Given the description of an element on the screen output the (x, y) to click on. 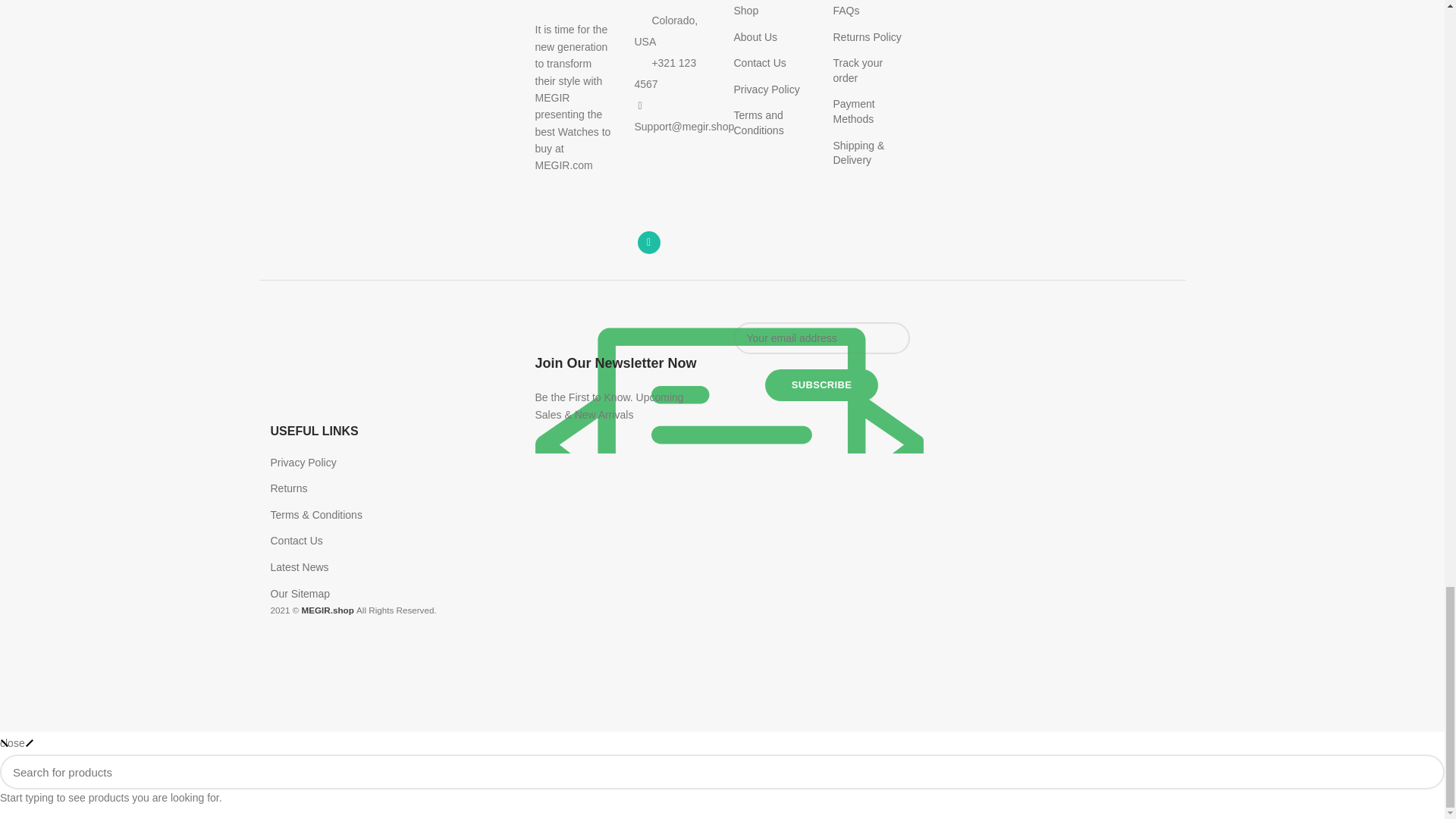
Instagram (648, 213)
Subscribe (821, 385)
Twitter (679, 175)
Pinterest (679, 213)
Facebook (648, 175)
